Given the description of an element on the screen output the (x, y) to click on. 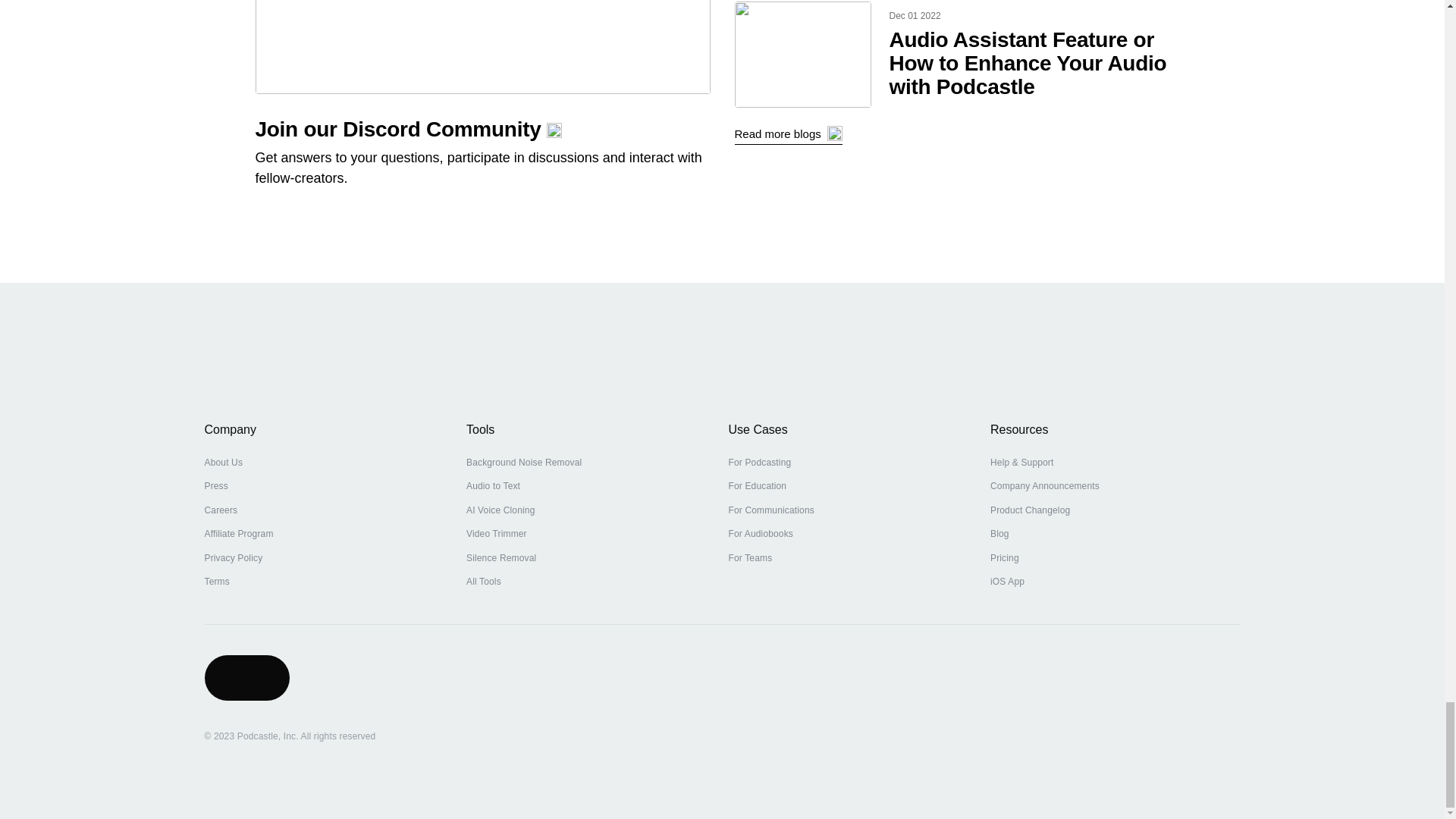
For Education (757, 486)
Audio to Text (492, 486)
Terms (217, 581)
Careers (221, 510)
All Tools (482, 581)
Read more blogs (787, 135)
Silence Removal (500, 558)
Background Noise Removal (522, 463)
For Audiobooks (760, 534)
Affiliate Program (239, 534)
Company Announcements (1044, 486)
Privacy Policy (234, 558)
Product Changelog (1030, 510)
For Podcasting (759, 463)
Video Trimmer (496, 534)
